Given the description of an element on the screen output the (x, y) to click on. 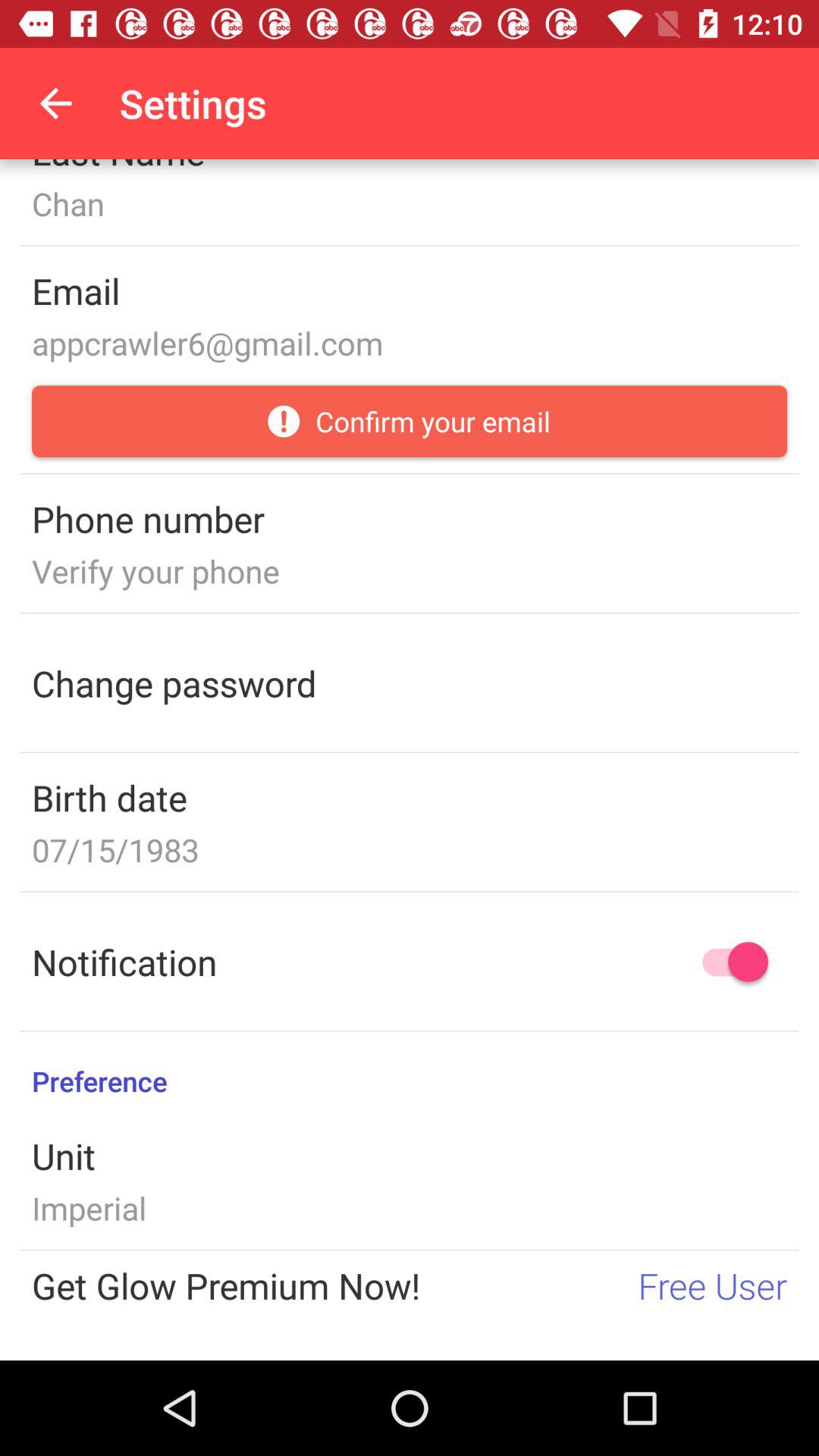
on the notificatins for mails to show (727, 962)
